Given the description of an element on the screen output the (x, y) to click on. 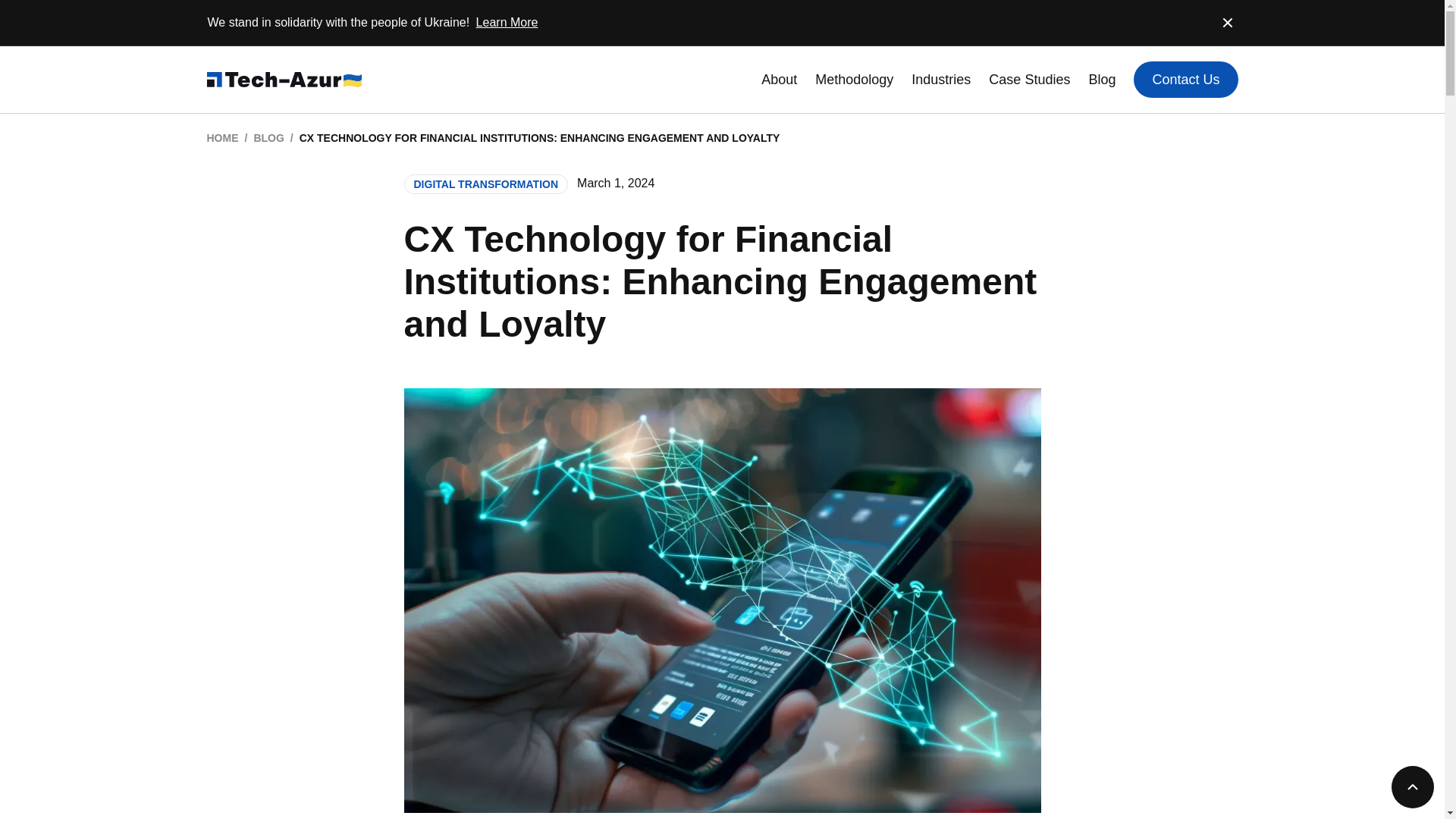
HOME (222, 137)
Learn More (507, 21)
BLOG (268, 137)
About (778, 79)
Industries (941, 79)
Case Studies (1029, 79)
DIGITAL TRANSFORMATION (485, 184)
Blog (1101, 79)
Contact Us (1185, 79)
Methodology (854, 79)
